Given the description of an element on the screen output the (x, y) to click on. 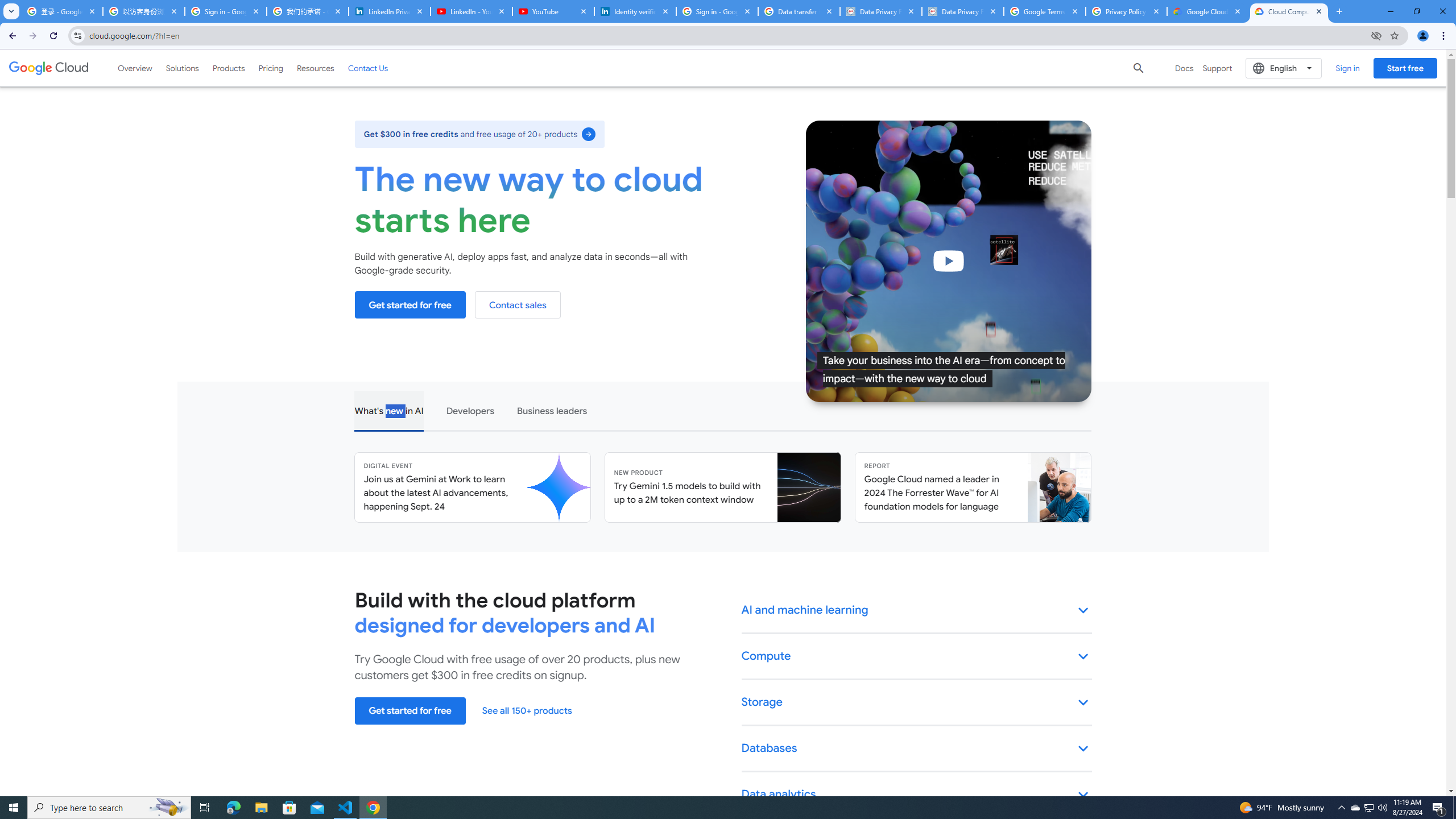
Contact sales (517, 304)
Google Cloud Privacy Notice (1207, 11)
Products (228, 67)
